Given the description of an element on the screen output the (x, y) to click on. 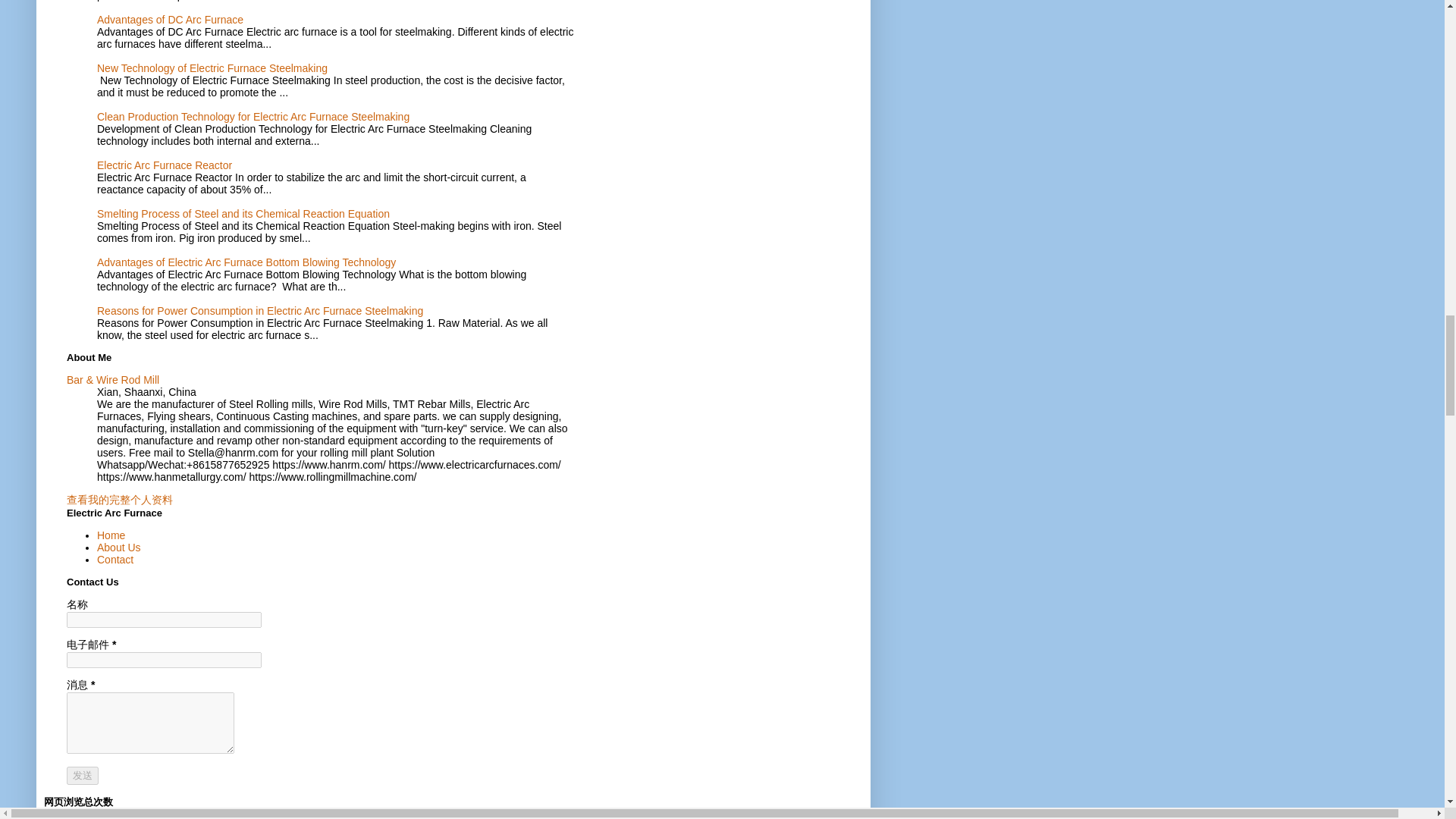
Advantages of DC Arc Furnace (170, 19)
